Given the description of an element on the screen output the (x, y) to click on. 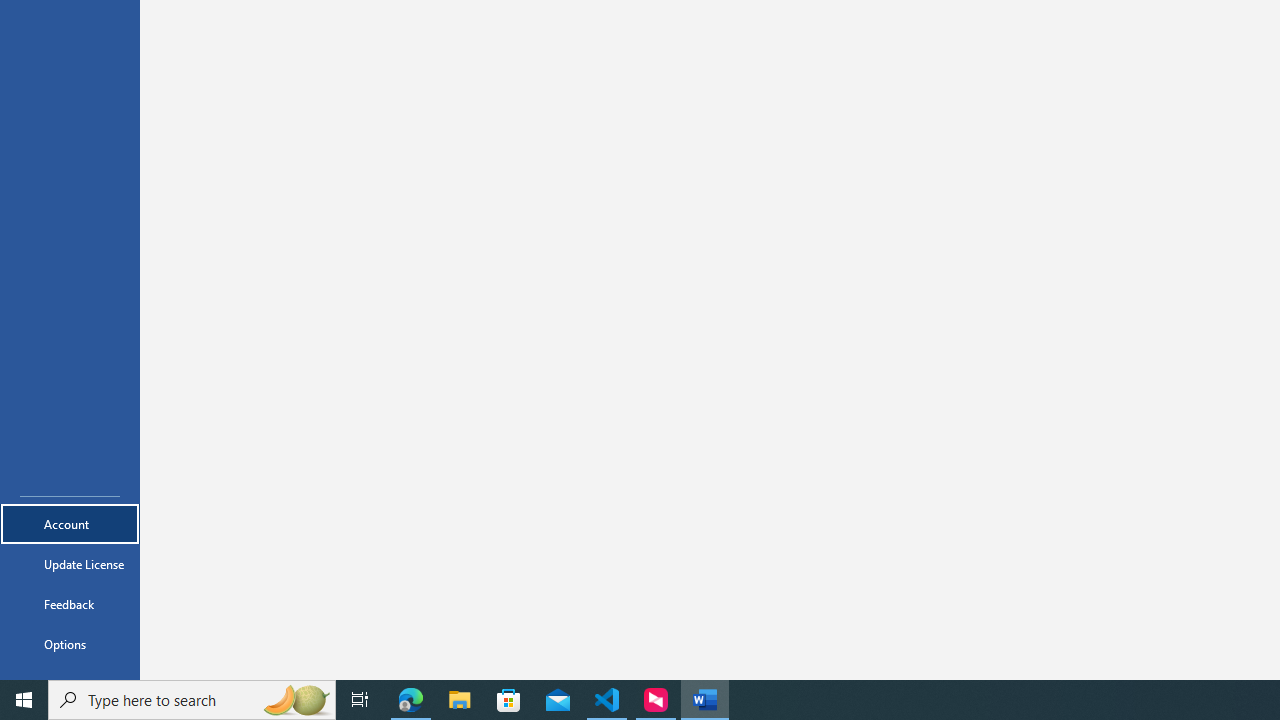
Feedback (69, 603)
Account (69, 523)
Update License (69, 563)
Options (69, 643)
